Given the description of an element on the screen output the (x, y) to click on. 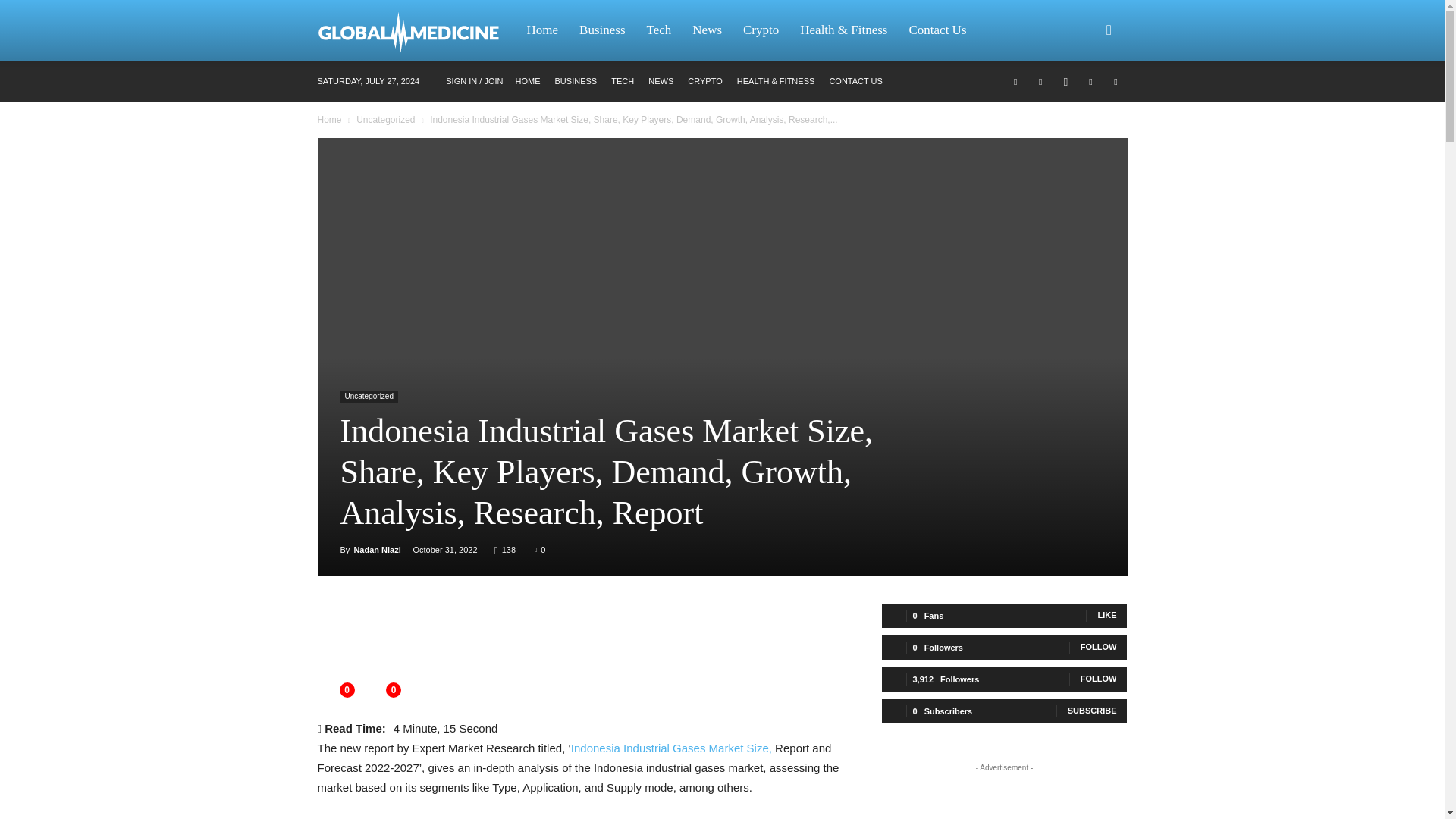
Home (542, 30)
HOME (527, 80)
View all posts in Uncategorized (385, 119)
Crypto (760, 30)
Facebook (1015, 80)
News (706, 30)
DailyTimeZone (416, 30)
Business (601, 30)
Tech (659, 30)
Search (1085, 102)
NEWS (659, 80)
Contact Us (937, 30)
Vimeo (1090, 80)
BUSINESS (575, 80)
Youtube (1114, 80)
